Given the description of an element on the screen output the (x, y) to click on. 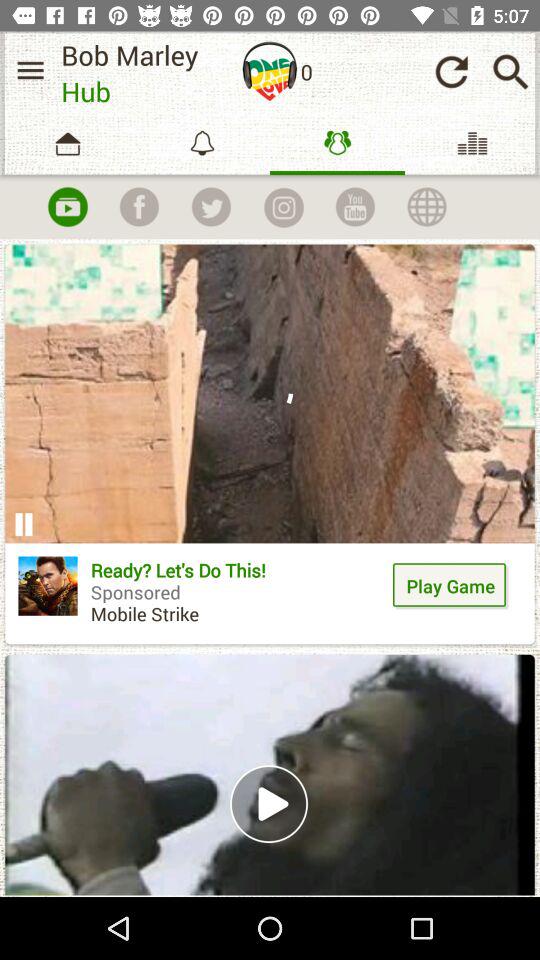
go to menu (30, 69)
